Given the description of an element on the screen output the (x, y) to click on. 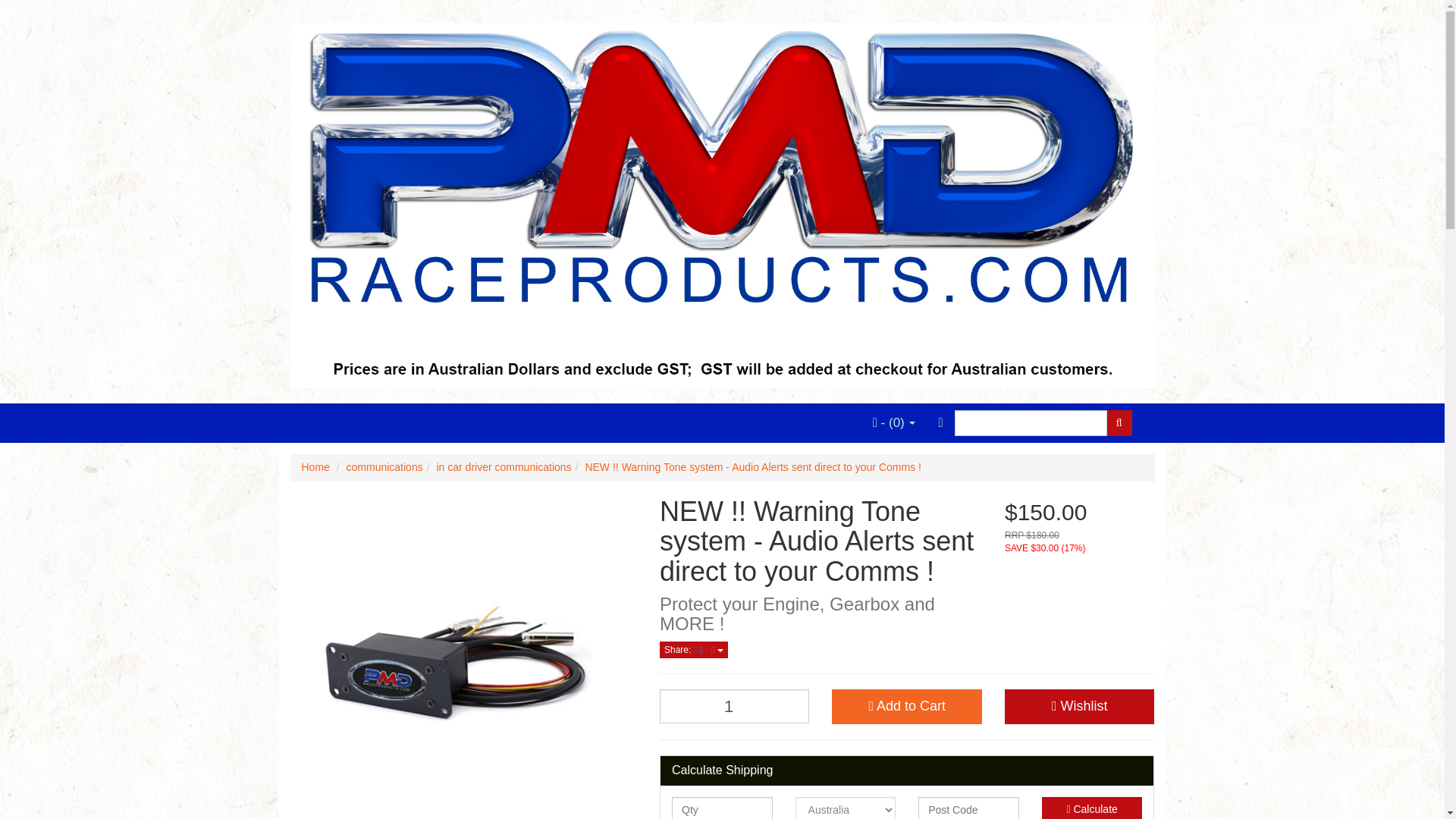
communications (384, 467)
Add to Cart (906, 706)
Share: (693, 649)
Search (1119, 422)
PMD Race Products (721, 200)
Add to Cart (906, 706)
Wishlist (1079, 706)
Calculate (1092, 807)
Home (315, 467)
1 (734, 706)
in car driver communications (502, 467)
Calculate (1092, 807)
